Given the description of an element on the screen output the (x, y) to click on. 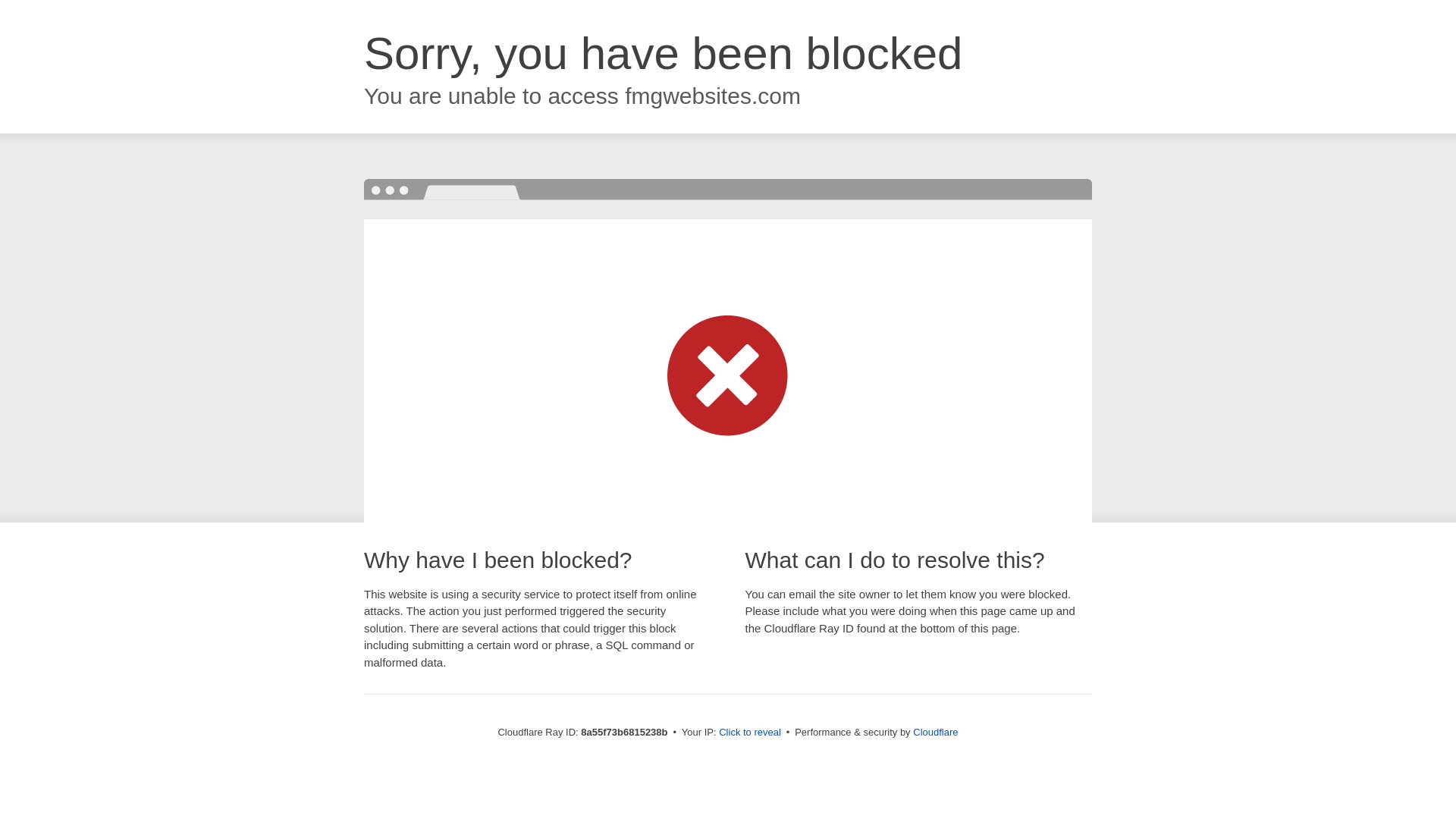
Click to reveal (749, 732)
Cloudflare (935, 731)
